Given the description of an element on the screen output the (x, y) to click on. 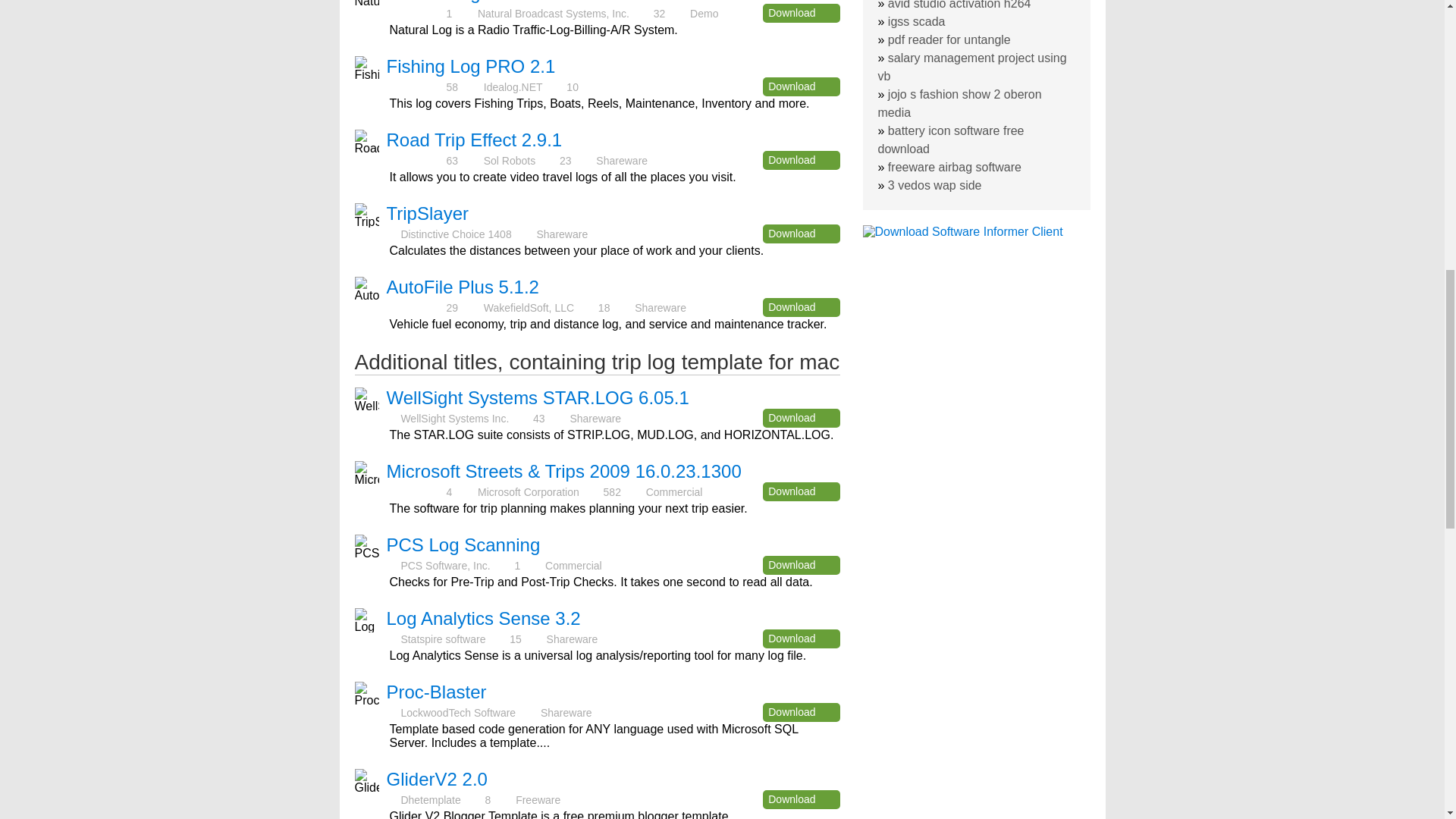
Download (801, 307)
PCS Log Scanning (463, 544)
Natural Log 8.0.163 (467, 1)
Road Trip Effect 2.9.1 (474, 139)
Download (801, 491)
TripSlayer (427, 213)
AutoFile Plus 5.1.2 (462, 286)
Download (801, 233)
Log Analytics Sense 3.2 (483, 618)
WellSight Systems STAR.LOG 6.05.1 (537, 397)
Road Trip Effect 2.9.1 (474, 139)
3.3 (415, 491)
TripSlayer  (427, 213)
Fishing Log PRO 2.1 (471, 66)
Fishing Log PRO 2.1 (471, 66)
